Given the description of an element on the screen output the (x, y) to click on. 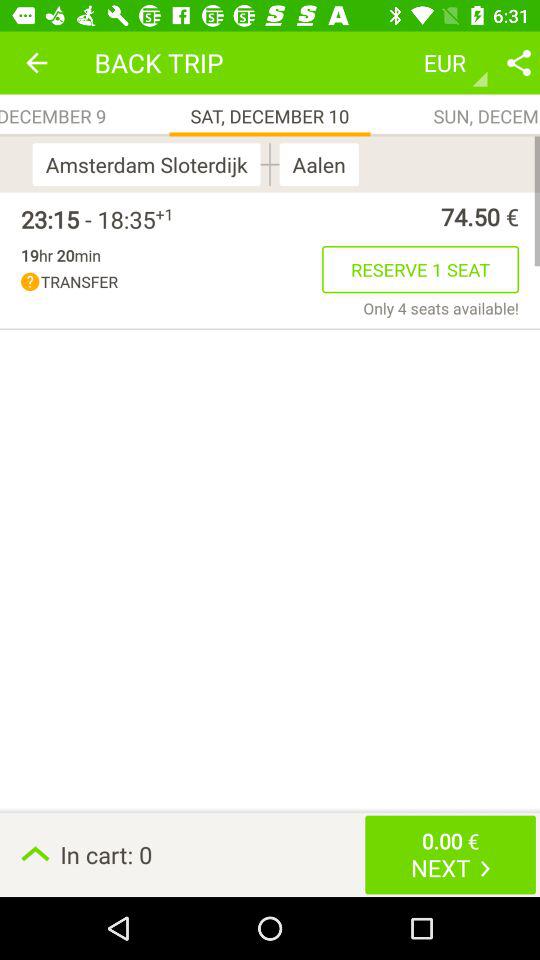
share (519, 62)
